Given the description of an element on the screen output the (x, y) to click on. 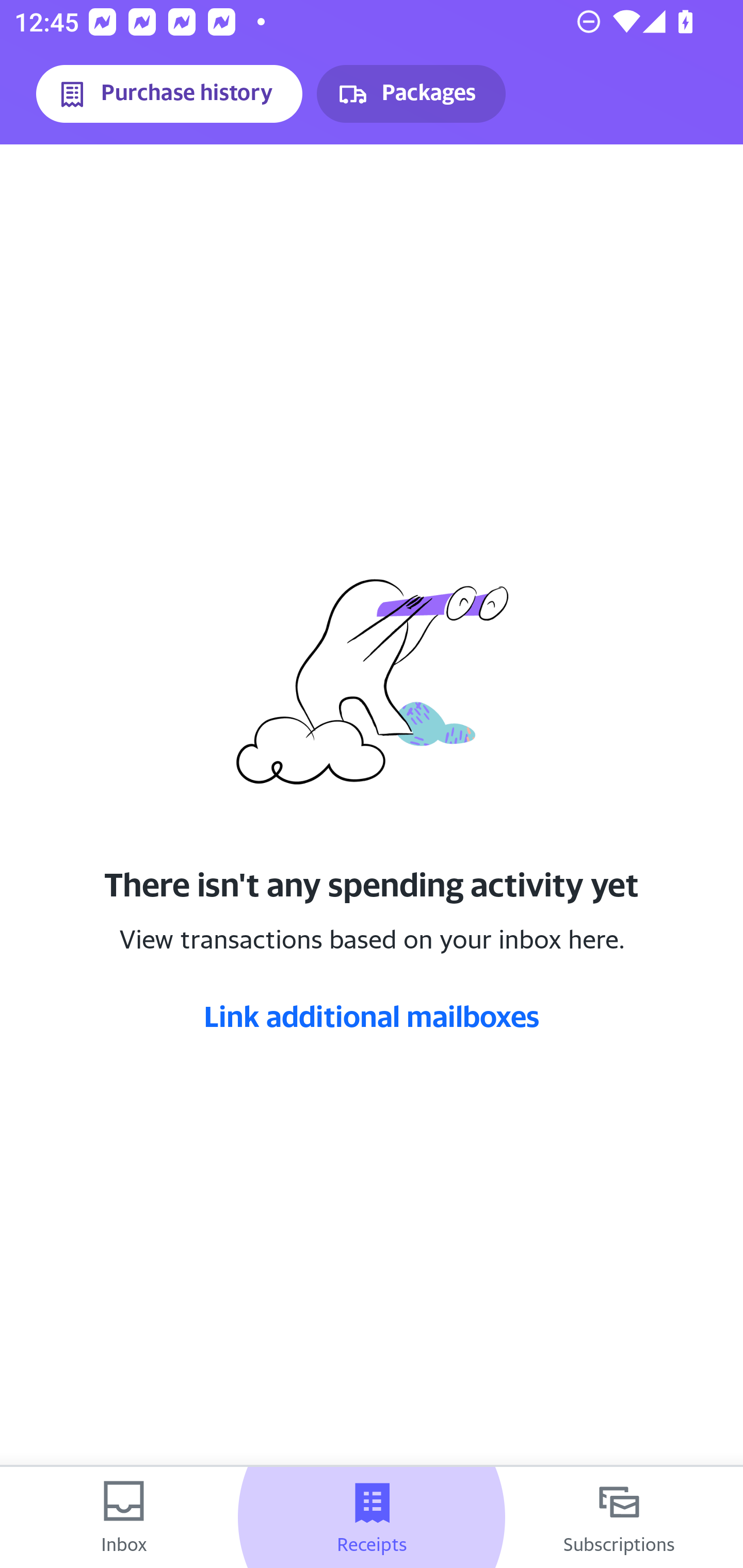
Packages (410, 93)
Link additional mailboxes (371, 1015)
Inbox (123, 1517)
Receipts (371, 1517)
Subscriptions (619, 1517)
